Given the description of an element on the screen output the (x, y) to click on. 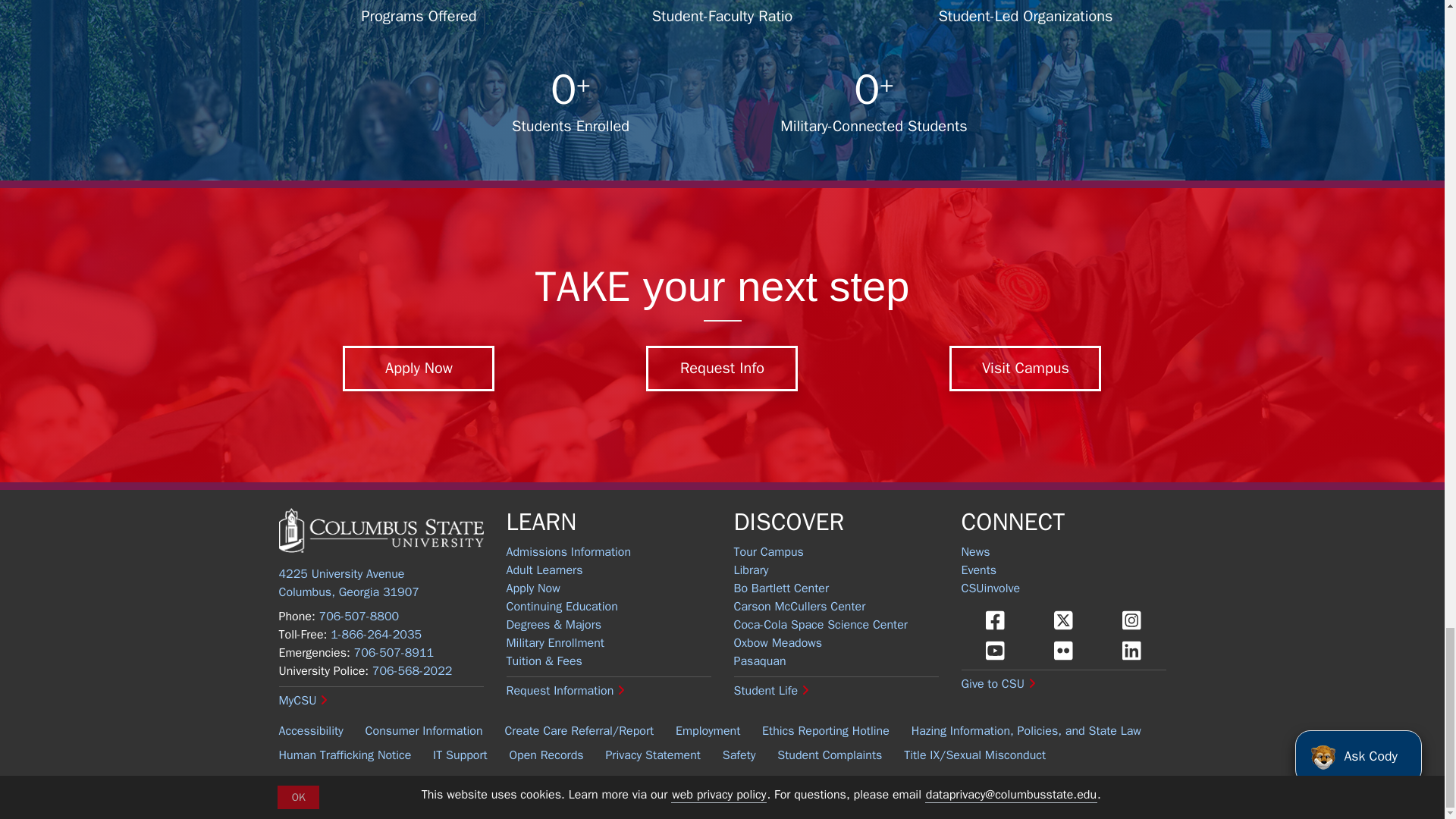
Google Maps (349, 582)
